Given the description of an element on the screen output the (x, y) to click on. 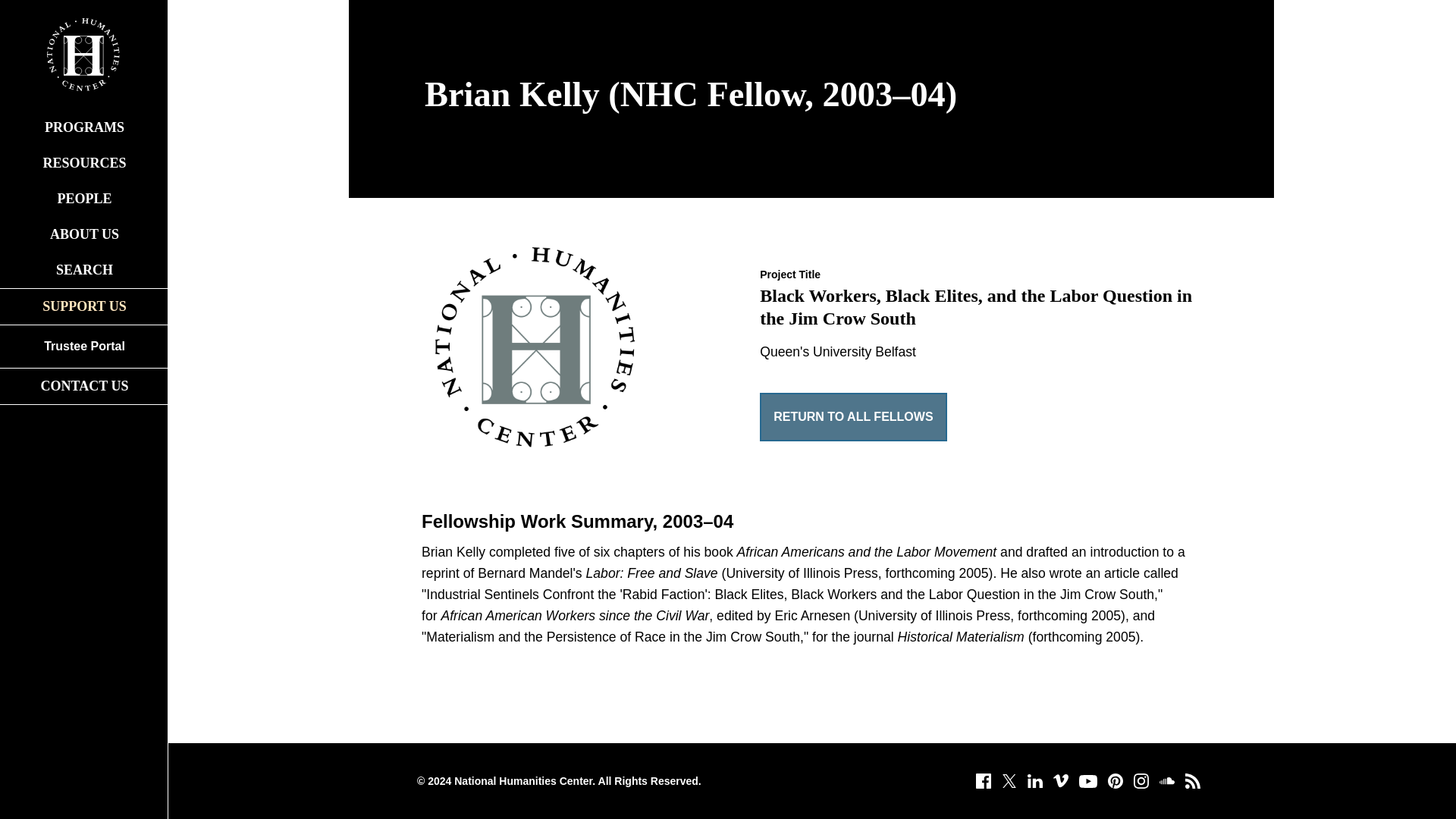
SUPPORT US (83, 306)
Subscribe via RSS (1192, 780)
SEARCH (83, 270)
Soundcloud (1166, 780)
YouTube (1088, 780)
PEOPLE (83, 198)
RESOURCES (83, 162)
Pinterest (1115, 780)
X (1008, 781)
LinkedIn (1035, 781)
